Given the description of an element on the screen output the (x, y) to click on. 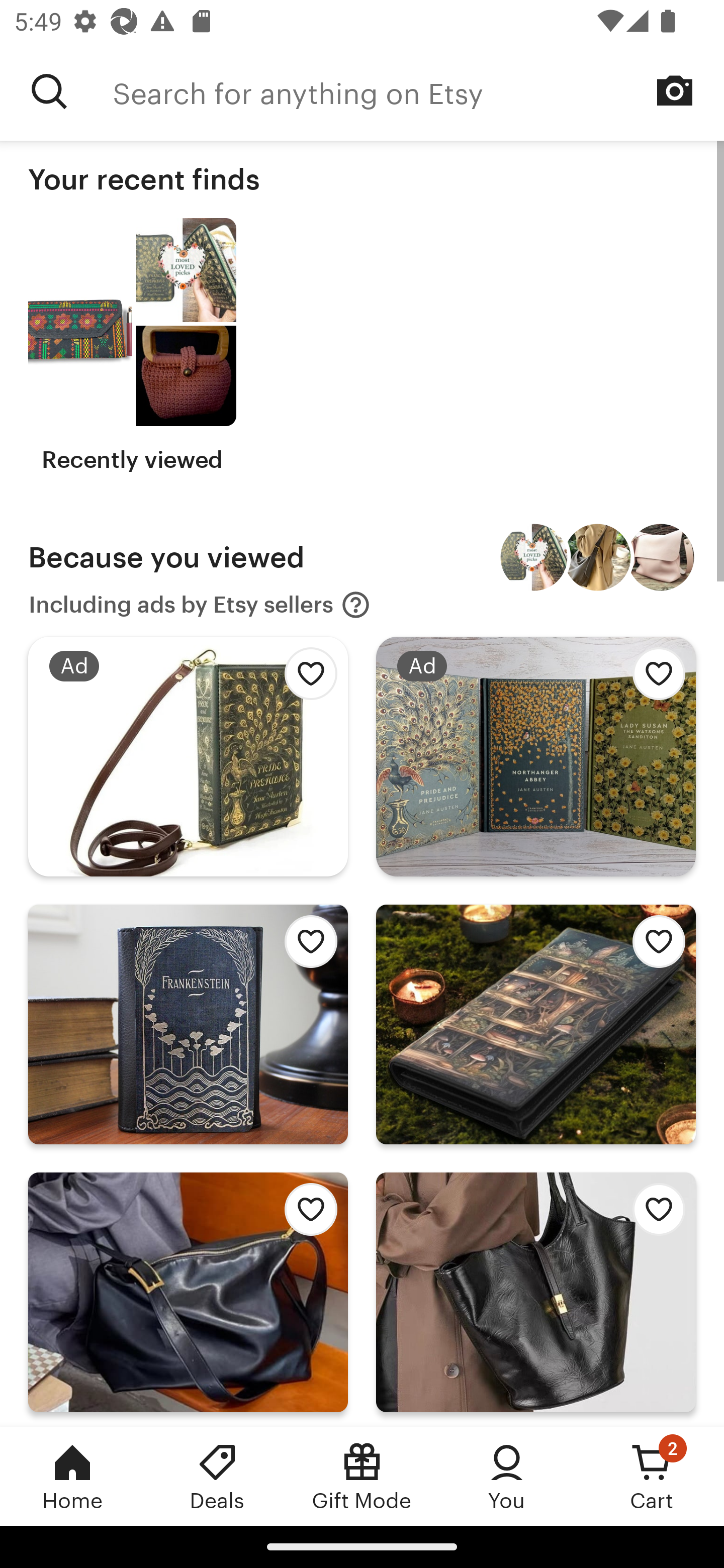
Search for anything on Etsy (49, 91)
Search by image (674, 90)
Search for anything on Etsy (418, 91)
Recently viewed (132, 345)
Including ads by Etsy sellers (199, 604)
Deals (216, 1475)
Gift Mode (361, 1475)
You (506, 1475)
Cart, 2 new notifications Cart (651, 1475)
